Given the description of an element on the screen output the (x, y) to click on. 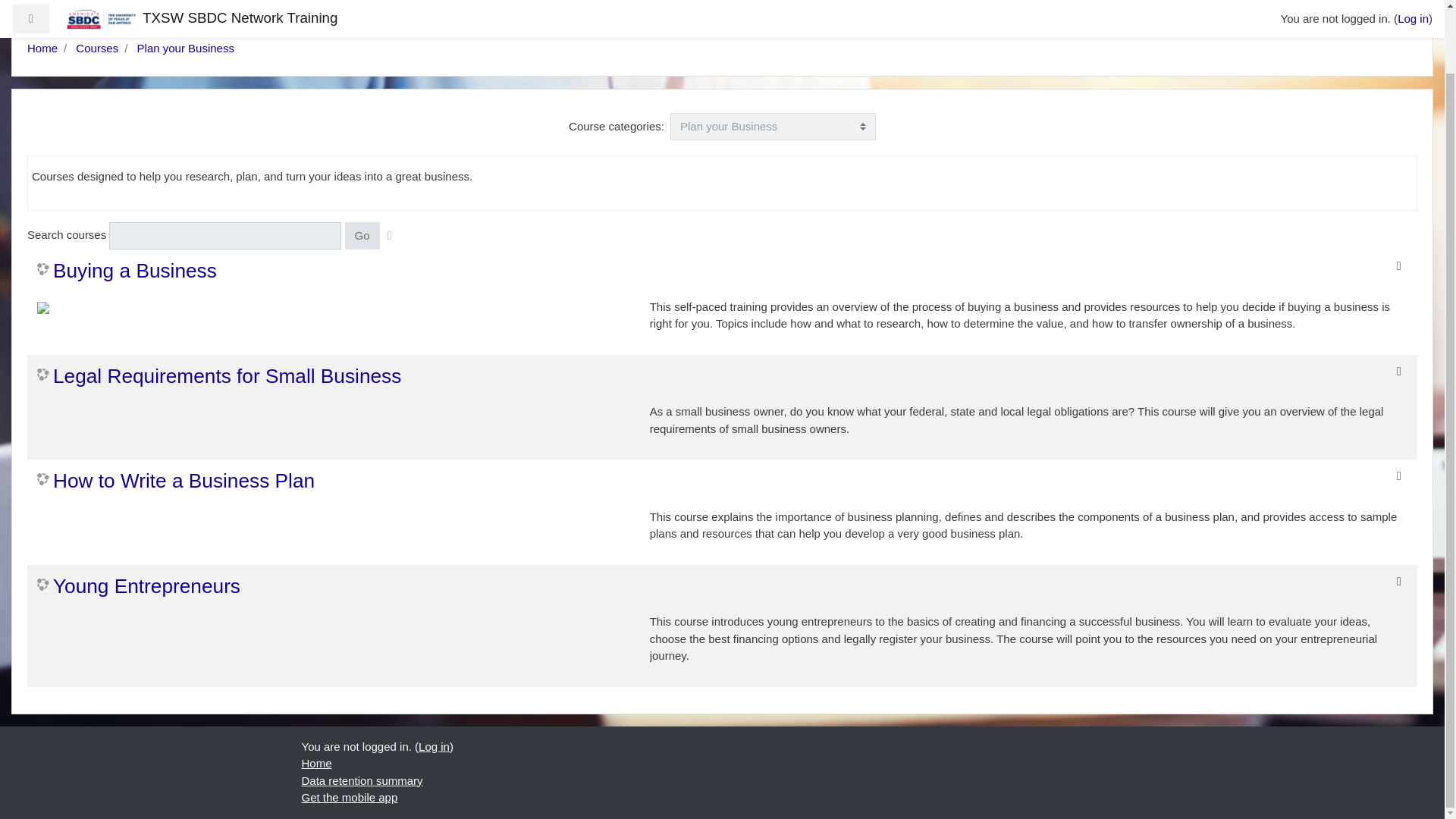
Home (316, 762)
Courses (96, 47)
Legal Requirements for Small Business (219, 376)
Young Entrepreneurs (138, 586)
Plan your Business (185, 47)
Self enrolment (1399, 476)
Help with Search courses (390, 235)
Data retention summary (362, 780)
Buying a Business (126, 271)
Self enrolment (1399, 265)
Self enrolment (1399, 370)
How to Write a Business Plan (175, 481)
Go (362, 235)
Home (42, 47)
Log in (434, 745)
